Given the description of an element on the screen output the (x, y) to click on. 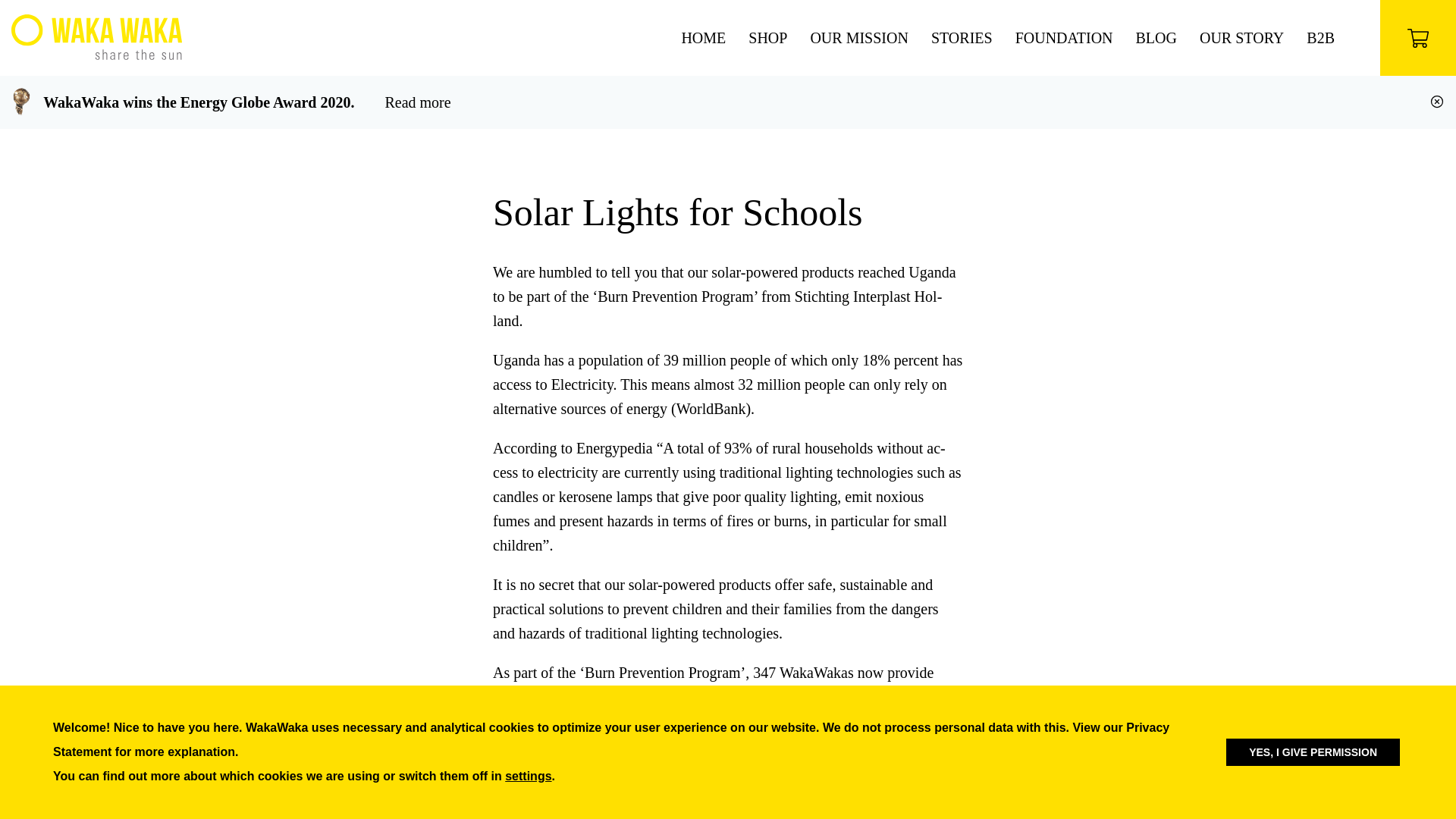
ionicons-v5-m (1436, 101)
OUR STORY (1241, 37)
STORIES (961, 37)
FOUNDATION (1063, 37)
Read more (416, 101)
BLOG (1155, 37)
YES, I GIVE PERMISSION (1312, 751)
B2B (1320, 37)
OUR MISSION (858, 37)
SHOP (767, 37)
HOME (703, 37)
